Given the description of an element on the screen output the (x, y) to click on. 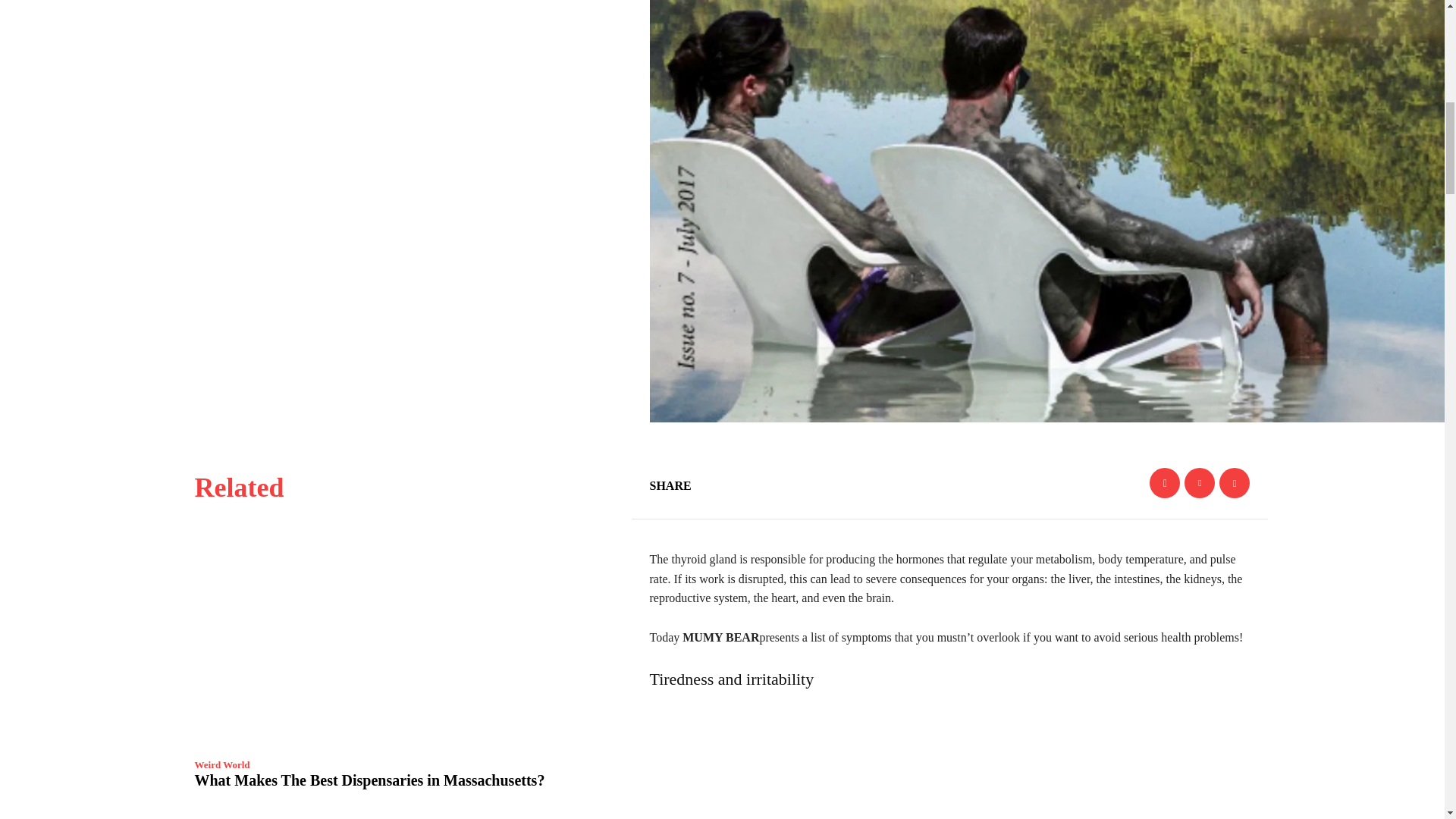
What Makes The Best Dispensaries in Massachusetts? (402, 645)
Zilis CBD Oil (402, 816)
Facebook (1164, 482)
What Makes The Best Dispensaries in Massachusetts? (368, 780)
What Makes The Best Dispensaries in Massachusetts? (368, 780)
Weird World (220, 764)
